Given the description of an element on the screen output the (x, y) to click on. 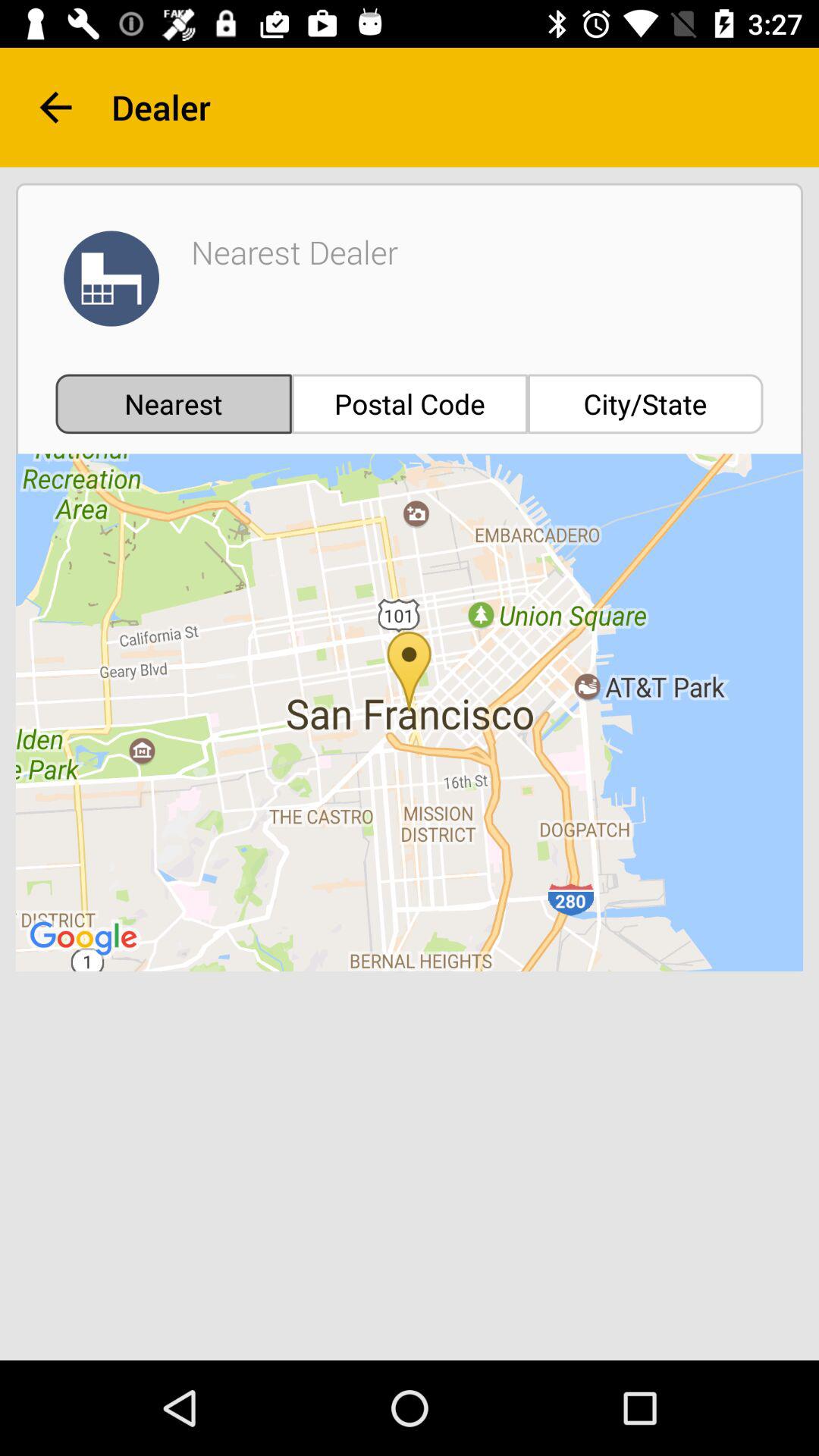
flip to the city/state (645, 403)
